Given the description of an element on the screen output the (x, y) to click on. 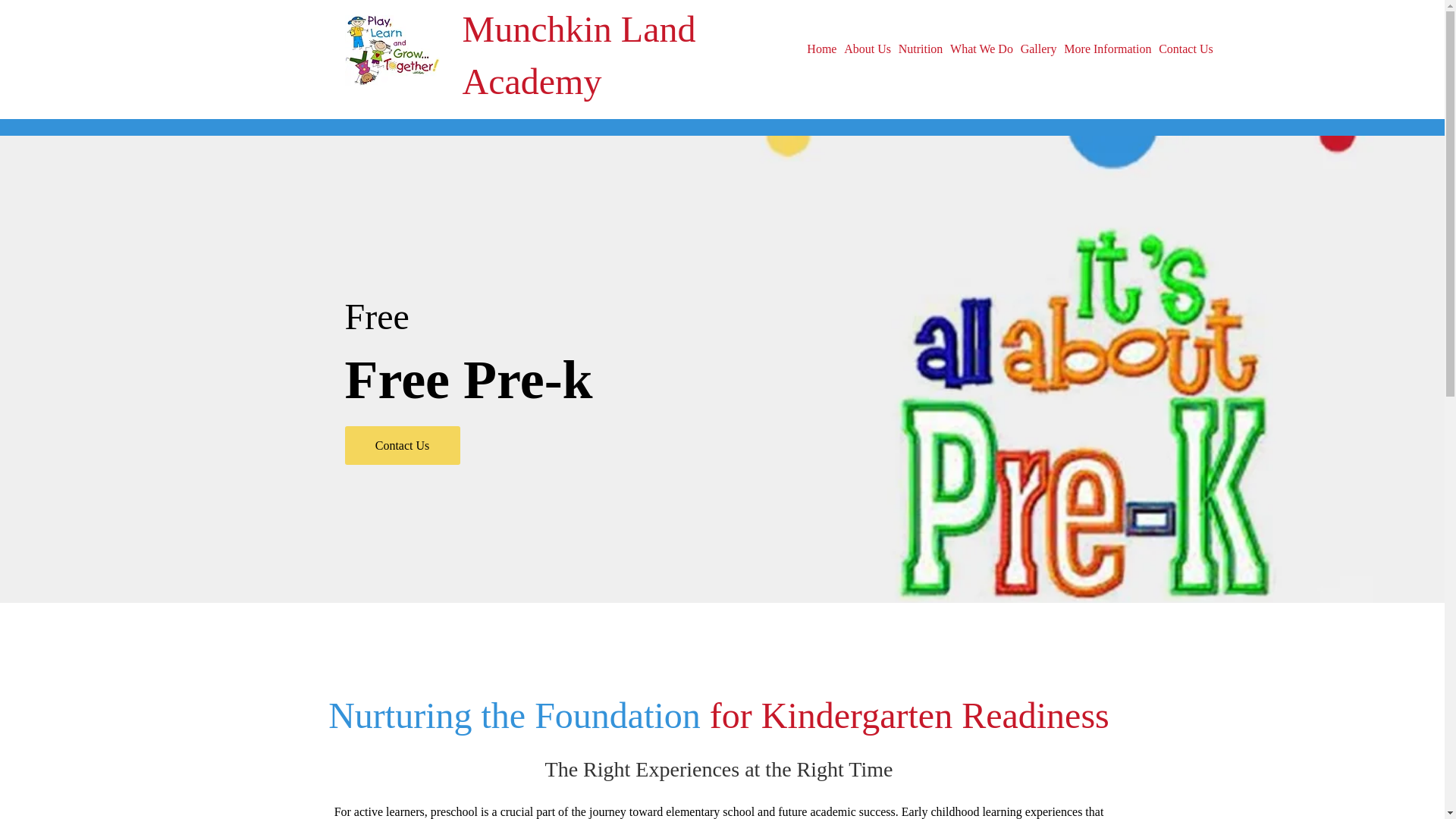
About Us (867, 49)
Gallery (1038, 49)
Contact Us (401, 445)
More Information (1106, 49)
Contact Us (1184, 49)
Nutrition (920, 49)
What We Do (981, 49)
Home (822, 49)
